Given the description of an element on the screen output the (x, y) to click on. 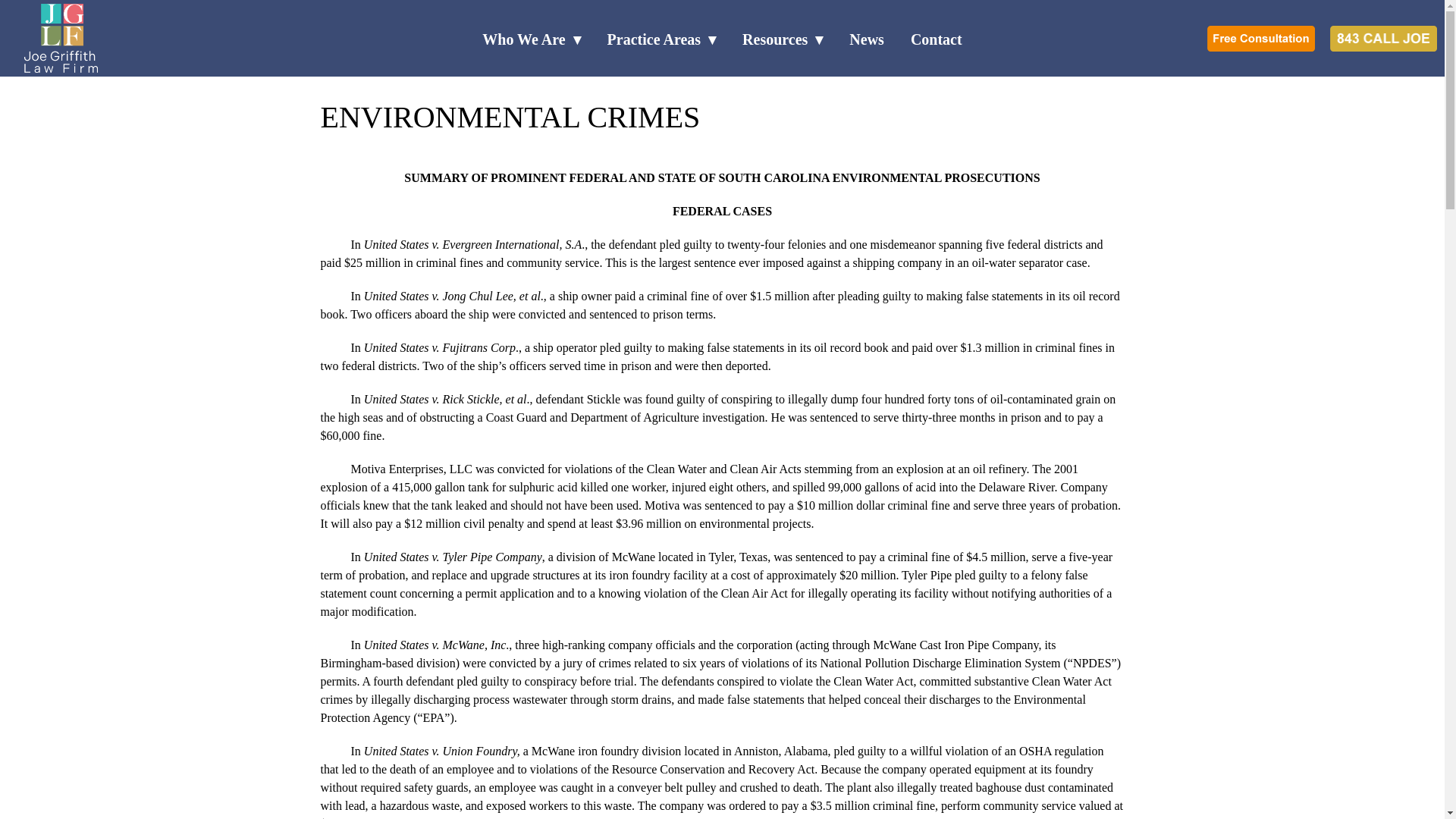
Practice Areas (661, 39)
Resources (782, 39)
Who We Are (530, 39)
